Given the description of an element on the screen output the (x, y) to click on. 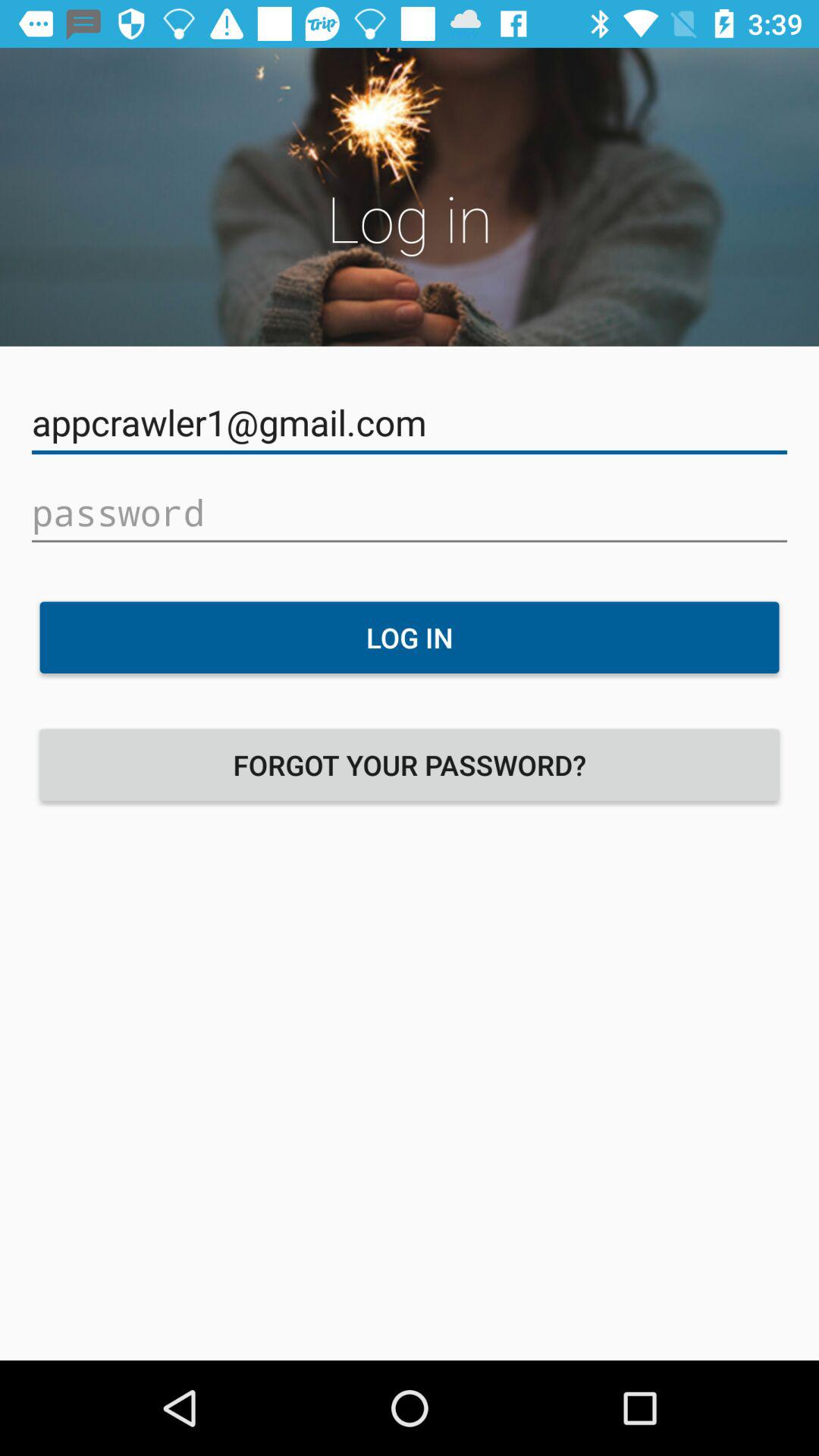
tap the item above the log in icon (409, 512)
